Given the description of an element on the screen output the (x, y) to click on. 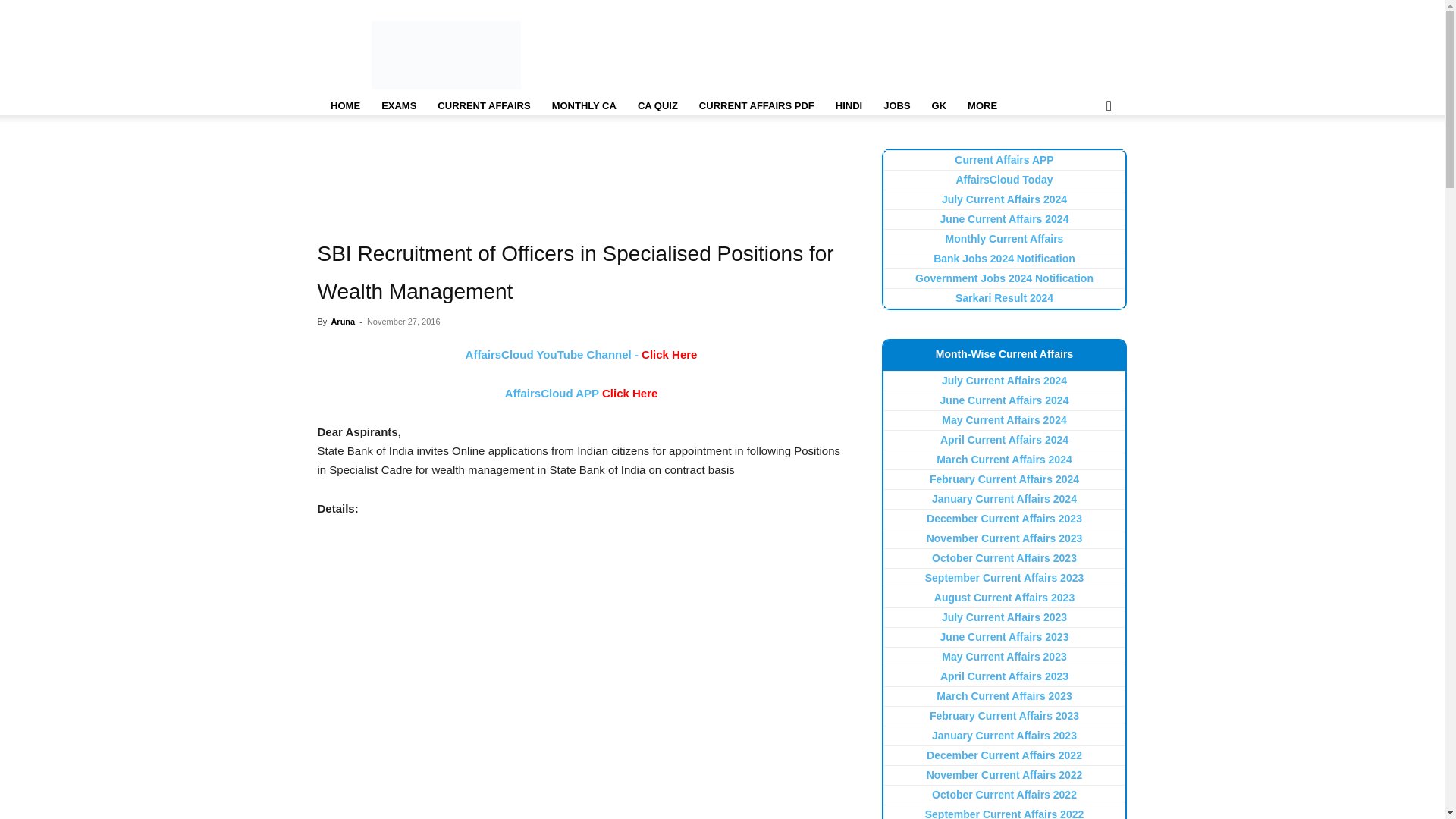
AffairsCloud (446, 55)
Current Affairs Quiz (657, 105)
Home (344, 105)
Current Affairs PDF (756, 105)
Current Affairs Hindi (848, 105)
Current Affairs (483, 105)
